Given the description of an element on the screen output the (x, y) to click on. 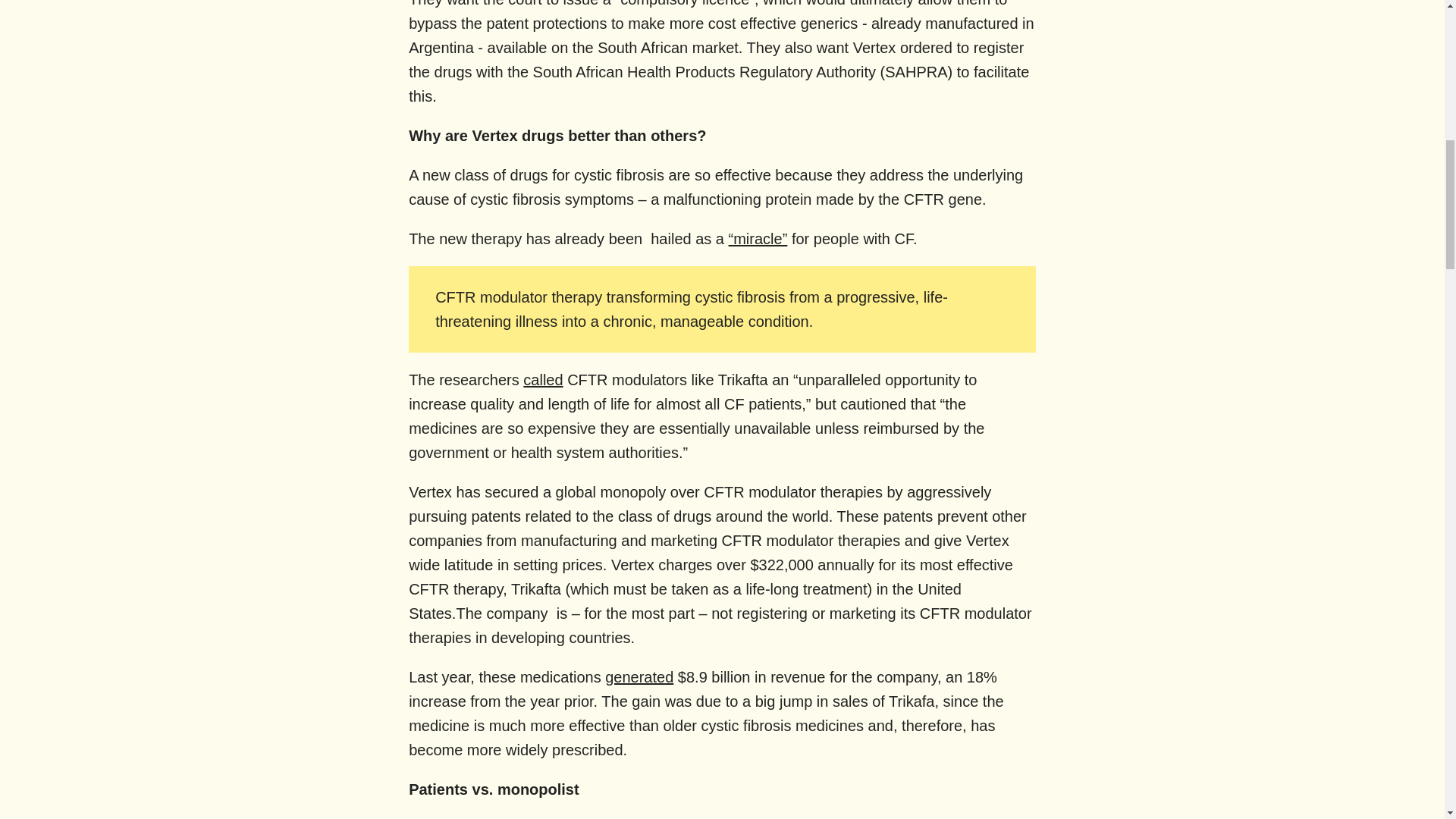
called (542, 379)
generated (638, 677)
